Given the description of an element on the screen output the (x, y) to click on. 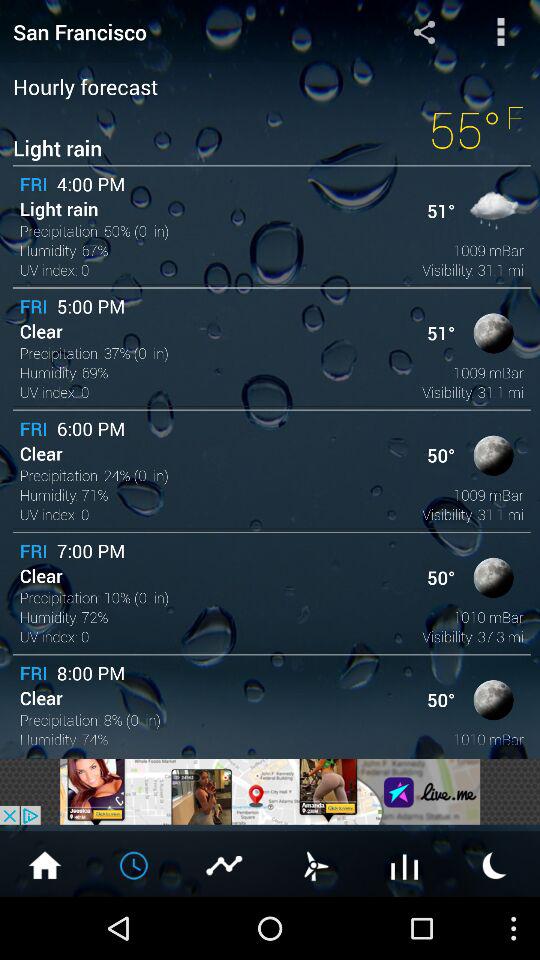
press the item above hourly forecast (424, 31)
